Given the description of an element on the screen output the (x, y) to click on. 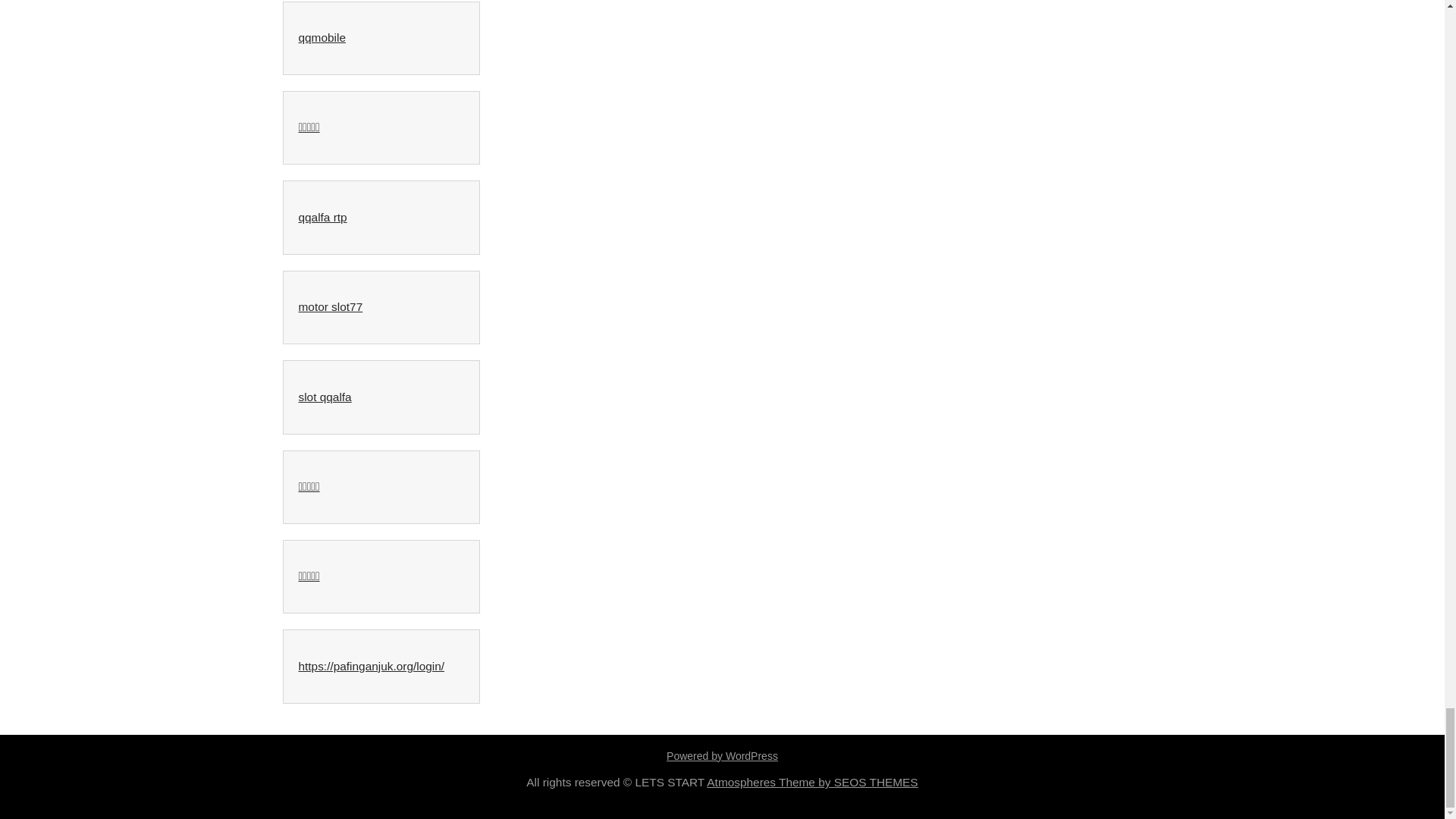
SEOS THEMES - Atmospheres (811, 781)
